Given the description of an element on the screen output the (x, y) to click on. 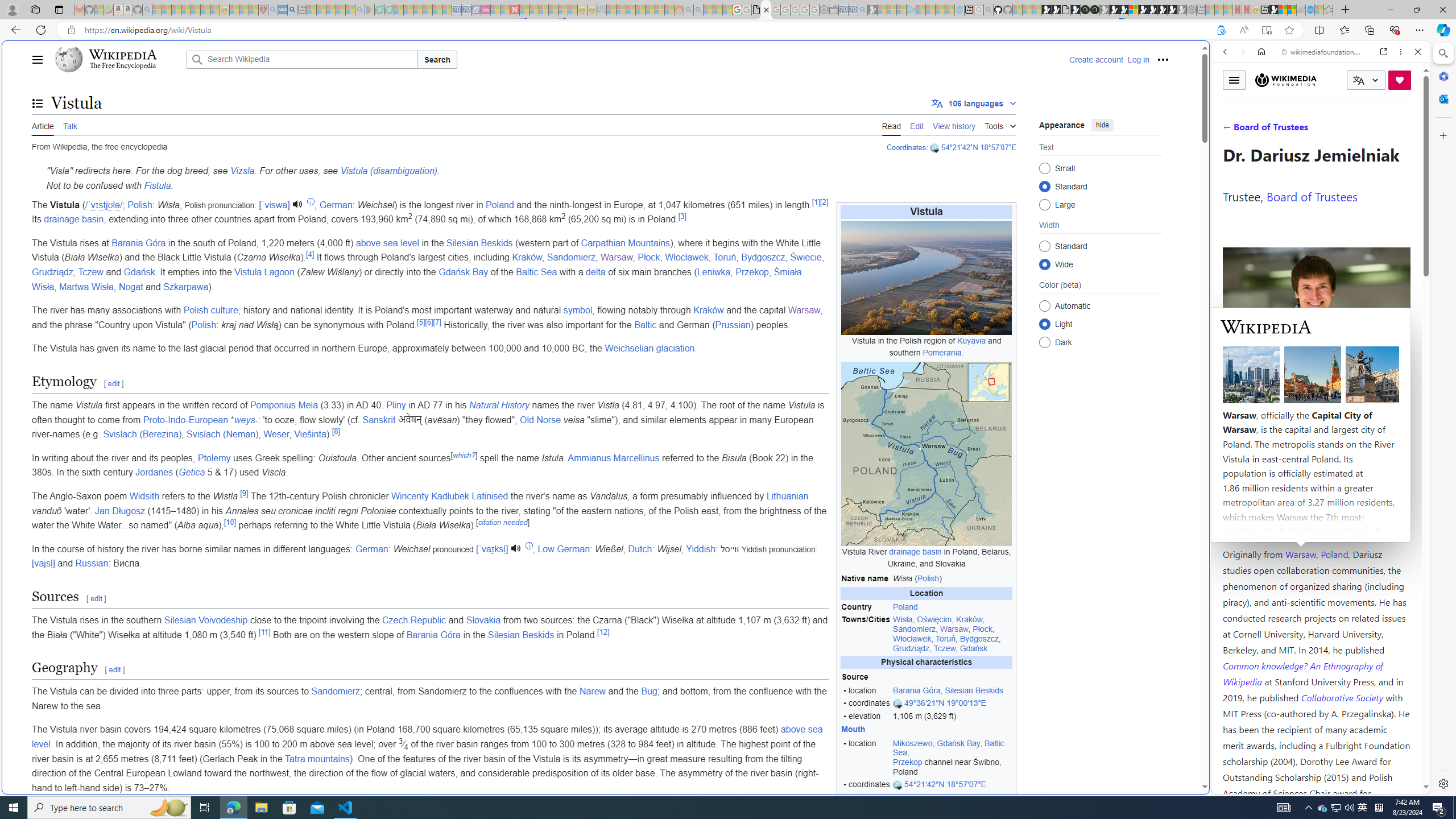
Szkarpawa (185, 286)
[4] (309, 254)
Open link in new tab (1383, 51)
Terms of Use Agreement - Sleeping (378, 9)
Tczew (90, 271)
Wiktionary (1315, 380)
Main menu (37, 59)
Expert Portfolios - Sleeping (639, 9)
Light (1044, 323)
Vistula (disambiguation) (388, 171)
Global web icon (1232, 786)
